Given the description of an element on the screen output the (x, y) to click on. 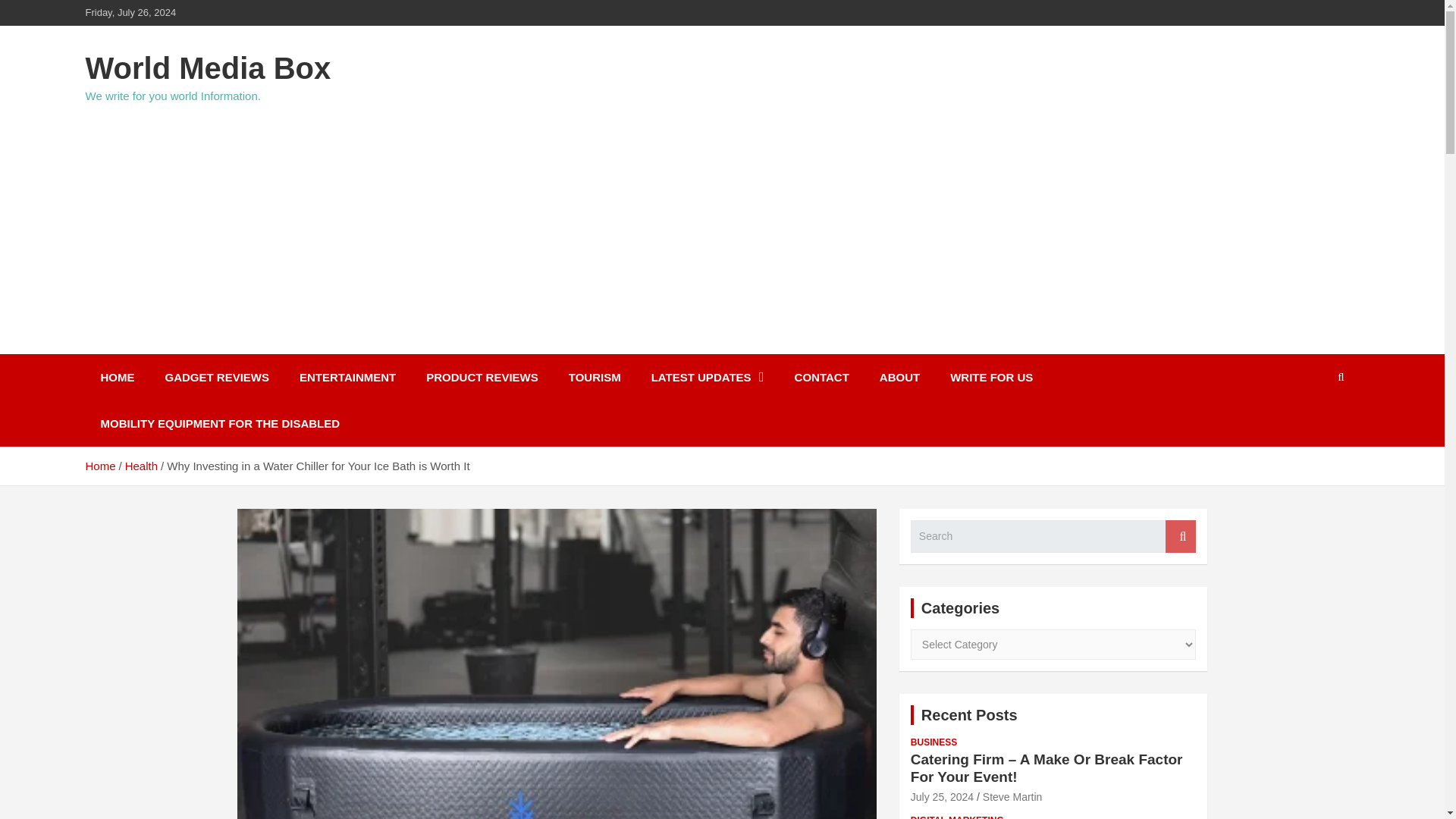
PRODUCT REVIEWS (481, 376)
GADGET REVIEWS (217, 376)
BUSINESS (933, 742)
Search (1180, 536)
Home (99, 465)
TOURISM (594, 376)
ABOUT (899, 376)
LATEST UPDATES (707, 376)
Health (141, 465)
ENTERTAINMENT (346, 376)
World Media Box (207, 68)
CONTACT (821, 376)
WRITE FOR US (991, 376)
HOME (116, 376)
